Given the description of an element on the screen output the (x, y) to click on. 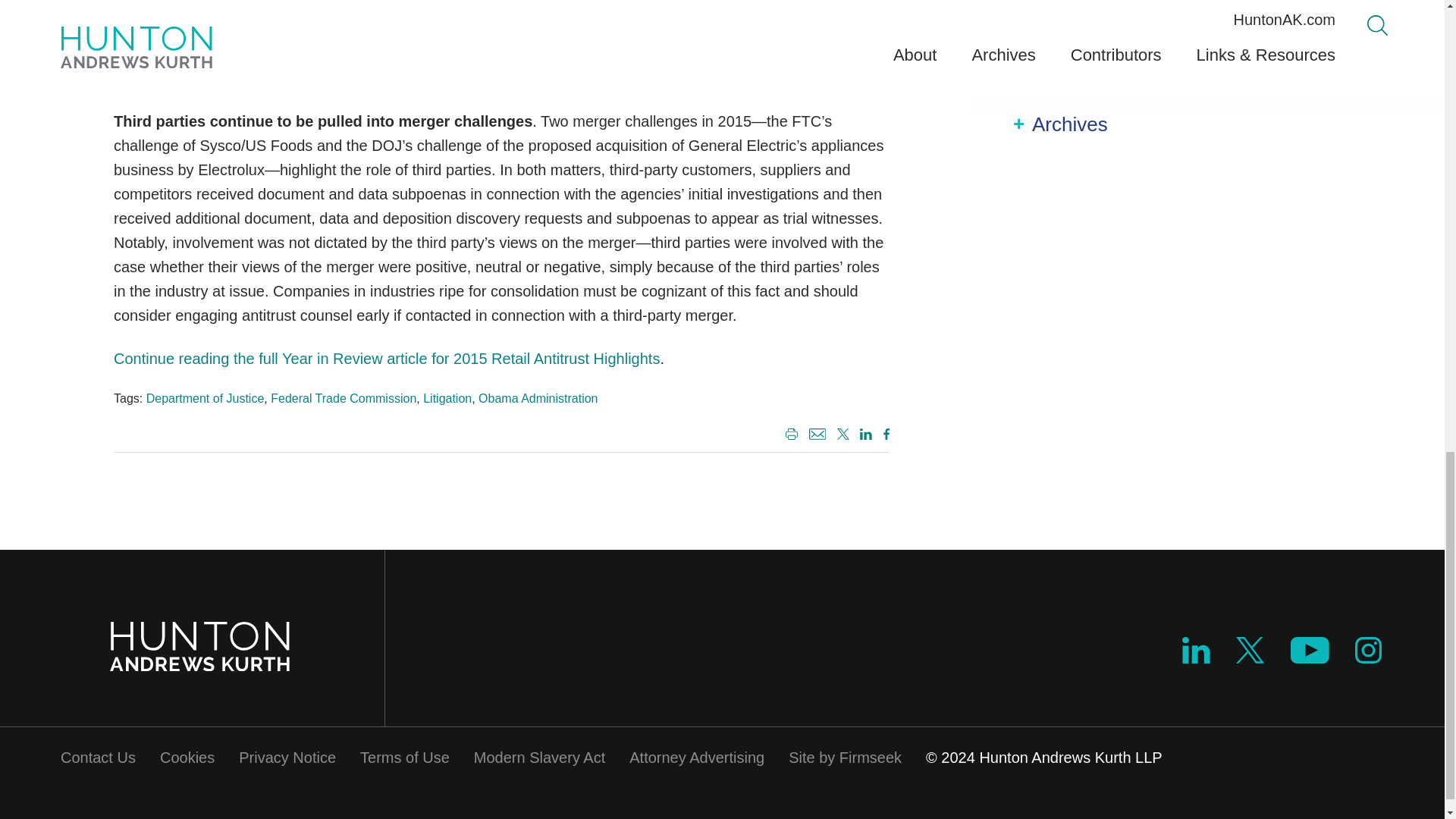
Linkedin (866, 433)
Youtube (1309, 650)
Email (815, 435)
Email (818, 433)
Federal Trade Commission (343, 398)
Youtube (1309, 658)
Litigation (447, 398)
Obama Administration (537, 398)
Print (788, 435)
